Given the description of an element on the screen output the (x, y) to click on. 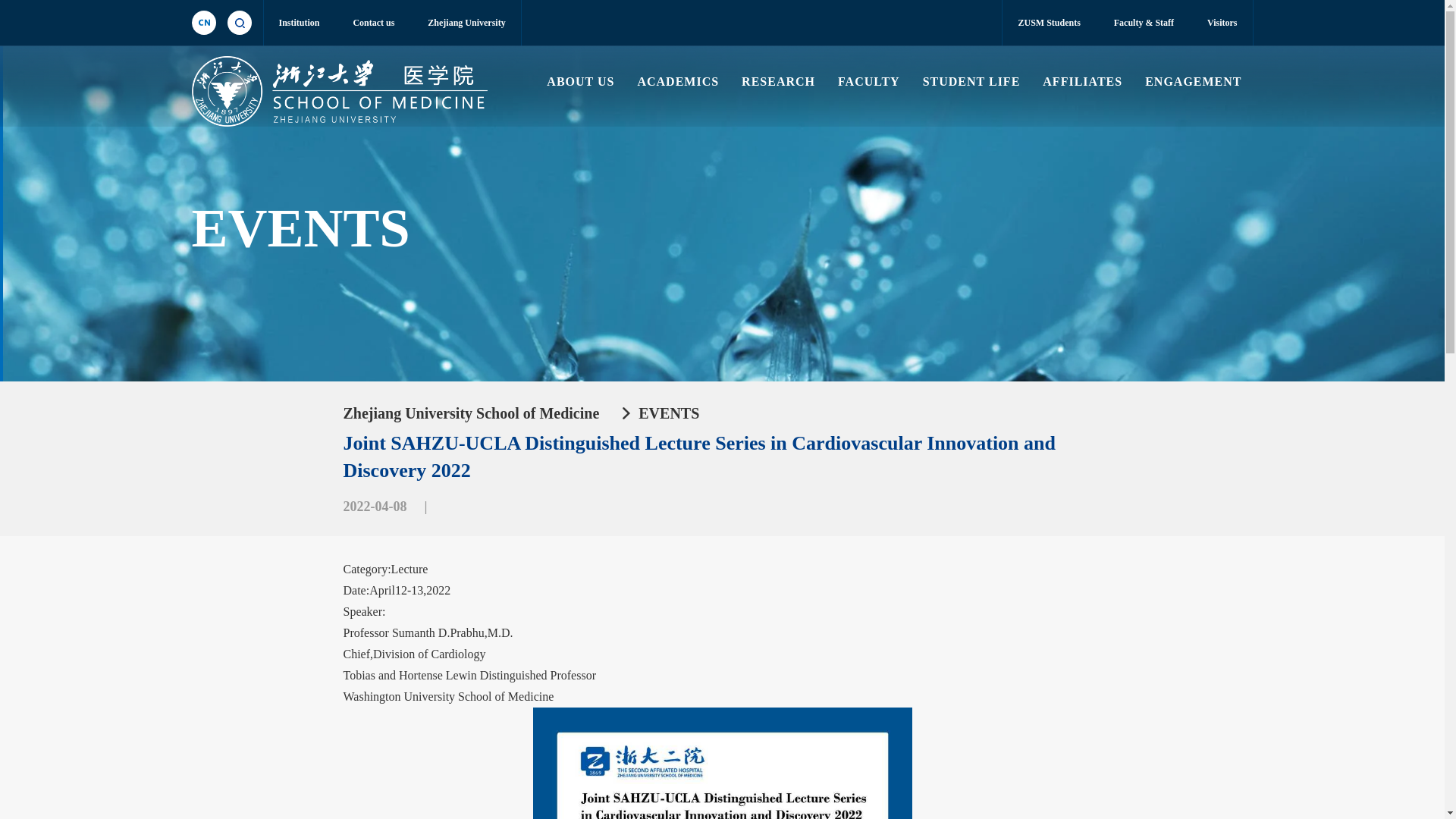
FACULTY (869, 81)
AFFILIATES (1082, 81)
ACADEMICS (678, 81)
Zhejiang University (466, 23)
Visitors (1222, 23)
Zhejiang University School of Medicine (470, 413)
STUDENT LIFE (971, 81)
RESEARCH (778, 81)
ABOUT US (580, 81)
ZUSM Students (1048, 23)
Institution (299, 23)
ENGAGEMENT (1193, 81)
Contact us (373, 23)
